Given the description of an element on the screen output the (x, y) to click on. 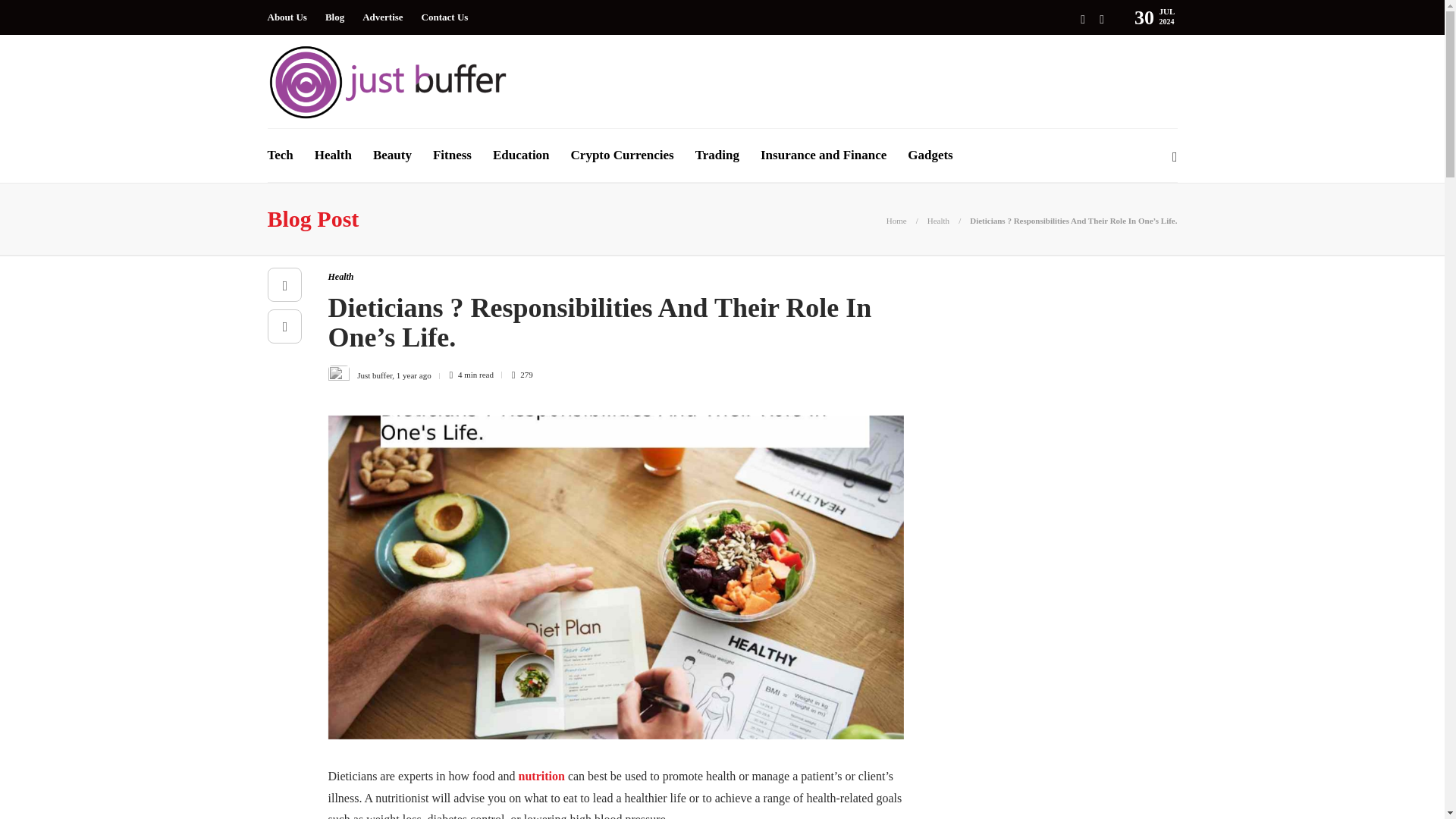
Home (896, 220)
About Us (285, 17)
Education (521, 154)
Insurance and Finance (823, 154)
Health (938, 220)
Advertise (382, 17)
Contact Us (445, 17)
Home (896, 220)
Crypto Currencies (622, 154)
